Given the description of an element on the screen output the (x, y) to click on. 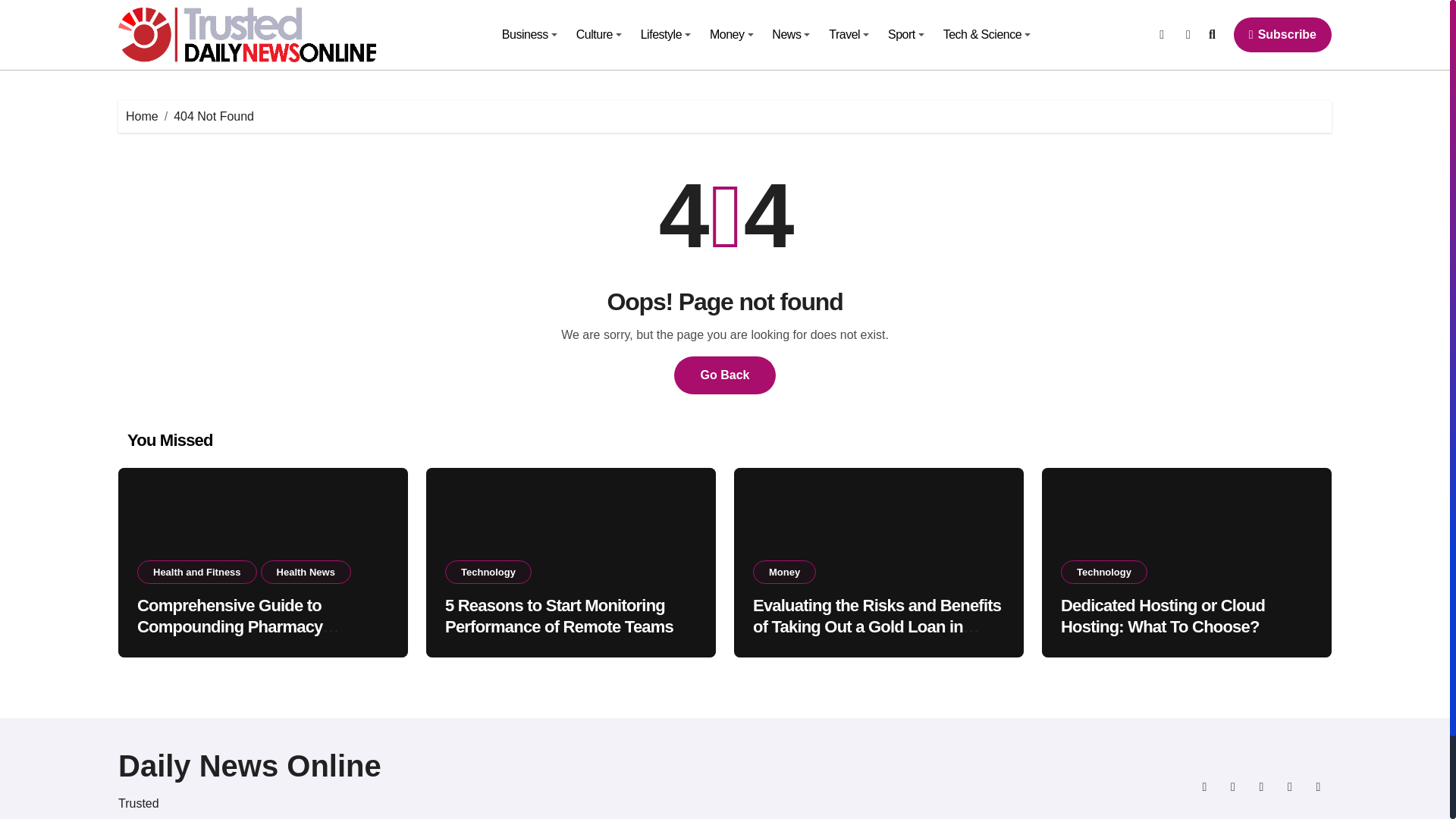
Money (730, 34)
Business (529, 34)
Culture (598, 34)
News (790, 34)
Lifestyle (665, 34)
Business (529, 34)
Lifestyle (665, 34)
Culture (598, 34)
